Given the description of an element on the screen output the (x, y) to click on. 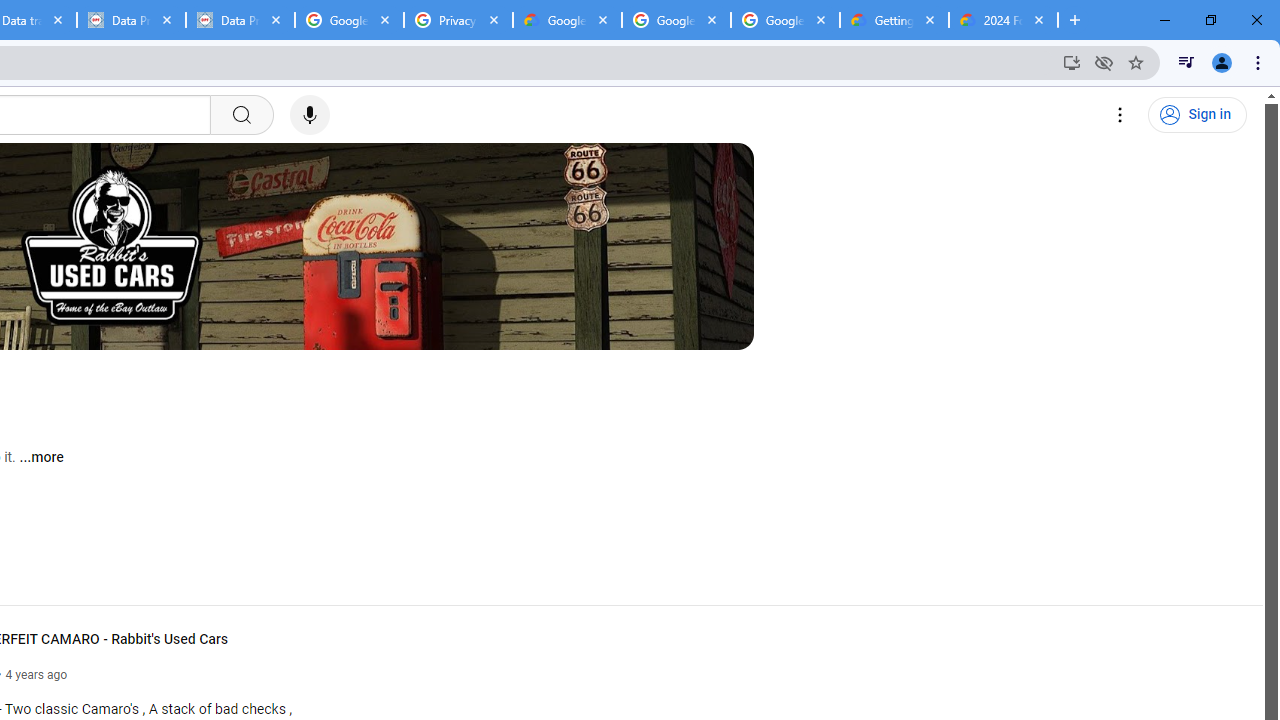
Data Privacy Framework (240, 20)
Third-party cookies blocked (1103, 62)
Google Workspace - Specific Terms (676, 20)
Search with your voice (309, 115)
